Given the description of an element on the screen output the (x, y) to click on. 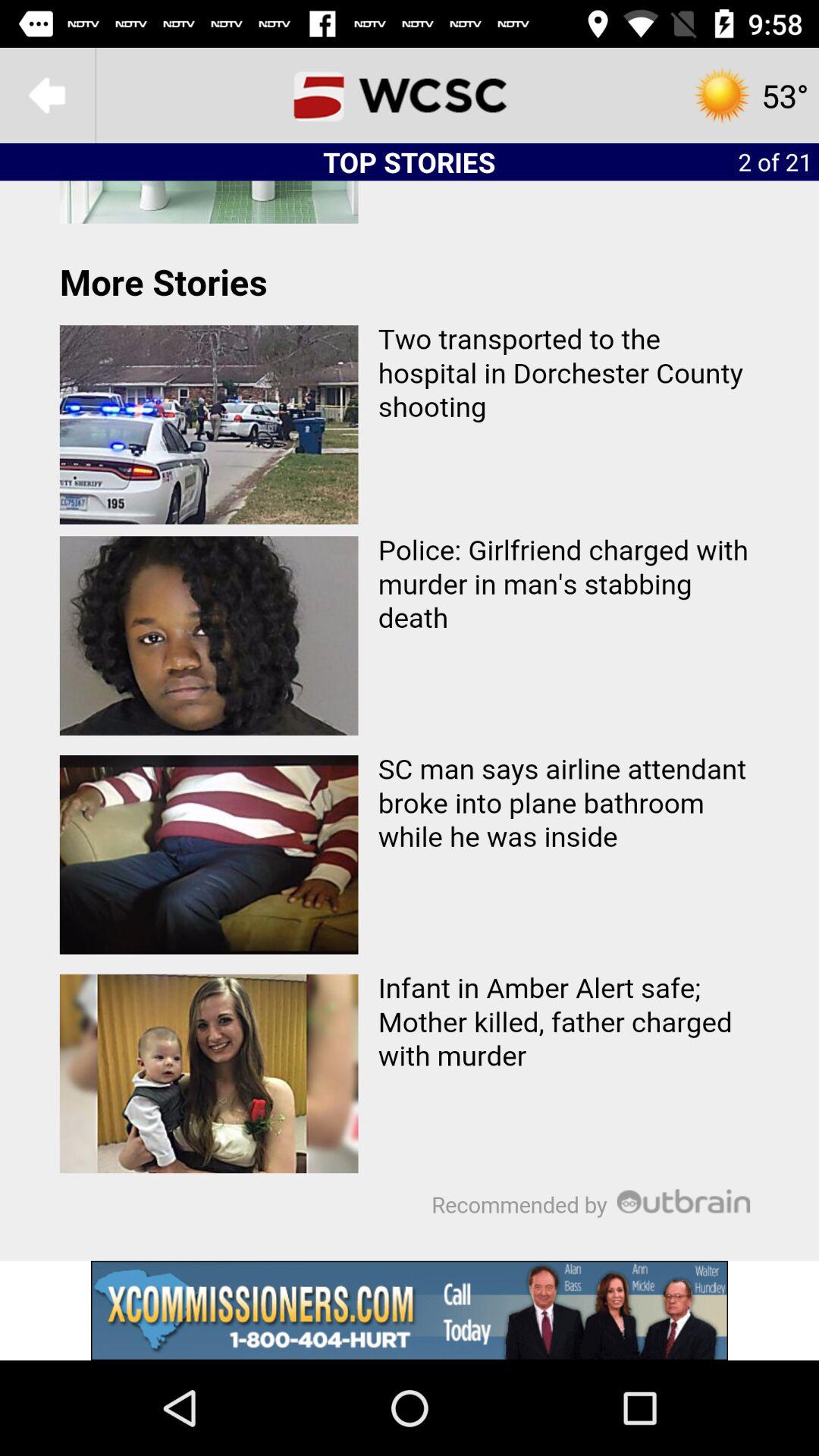
choose the icon above top stories icon (409, 95)
